Given the description of an element on the screen output the (x, y) to click on. 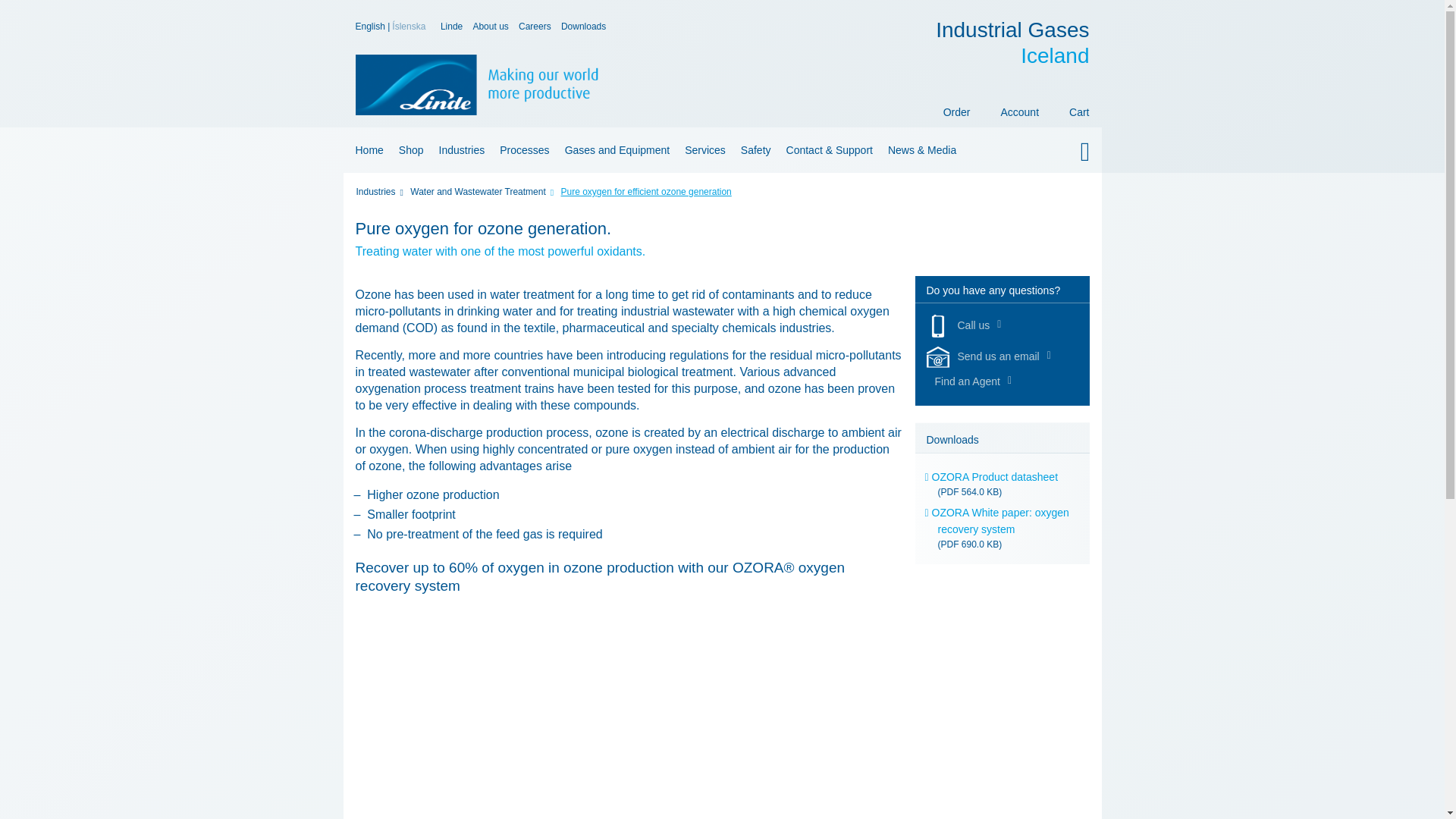
English  (371, 26)
Order (957, 108)
Account (1019, 108)
Industries (461, 149)
Linde (452, 26)
About us (489, 26)
Home (366, 149)
Careers (534, 26)
Downloads (1012, 42)
